Given the description of an element on the screen output the (x, y) to click on. 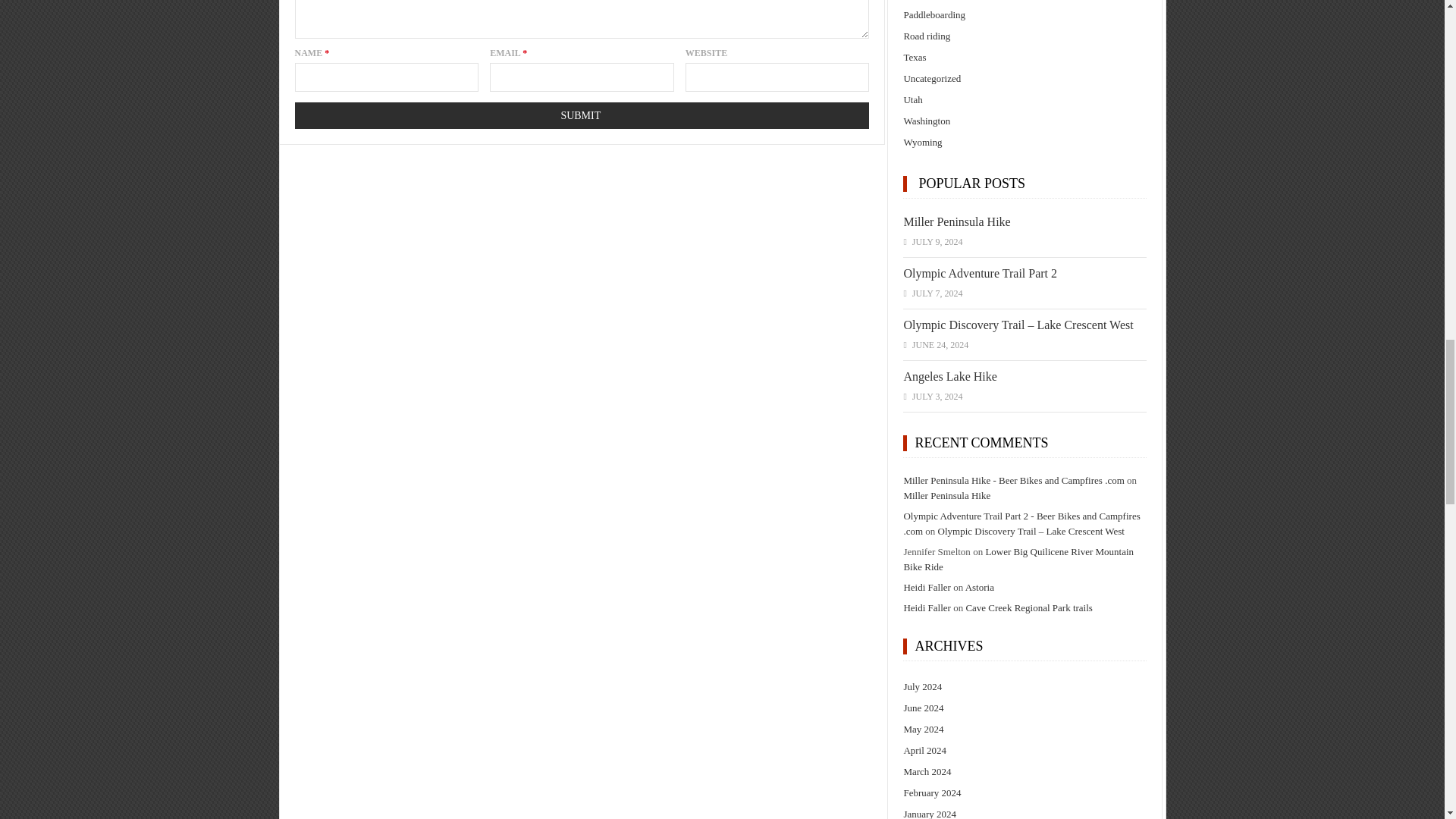
Angeles Lake Hike (949, 376)
Olympic Adventure Trail Part 2 (979, 273)
Submit  (581, 115)
Miller Peninsula Hike (956, 221)
Submit  (581, 115)
